Given the description of an element on the screen output the (x, y) to click on. 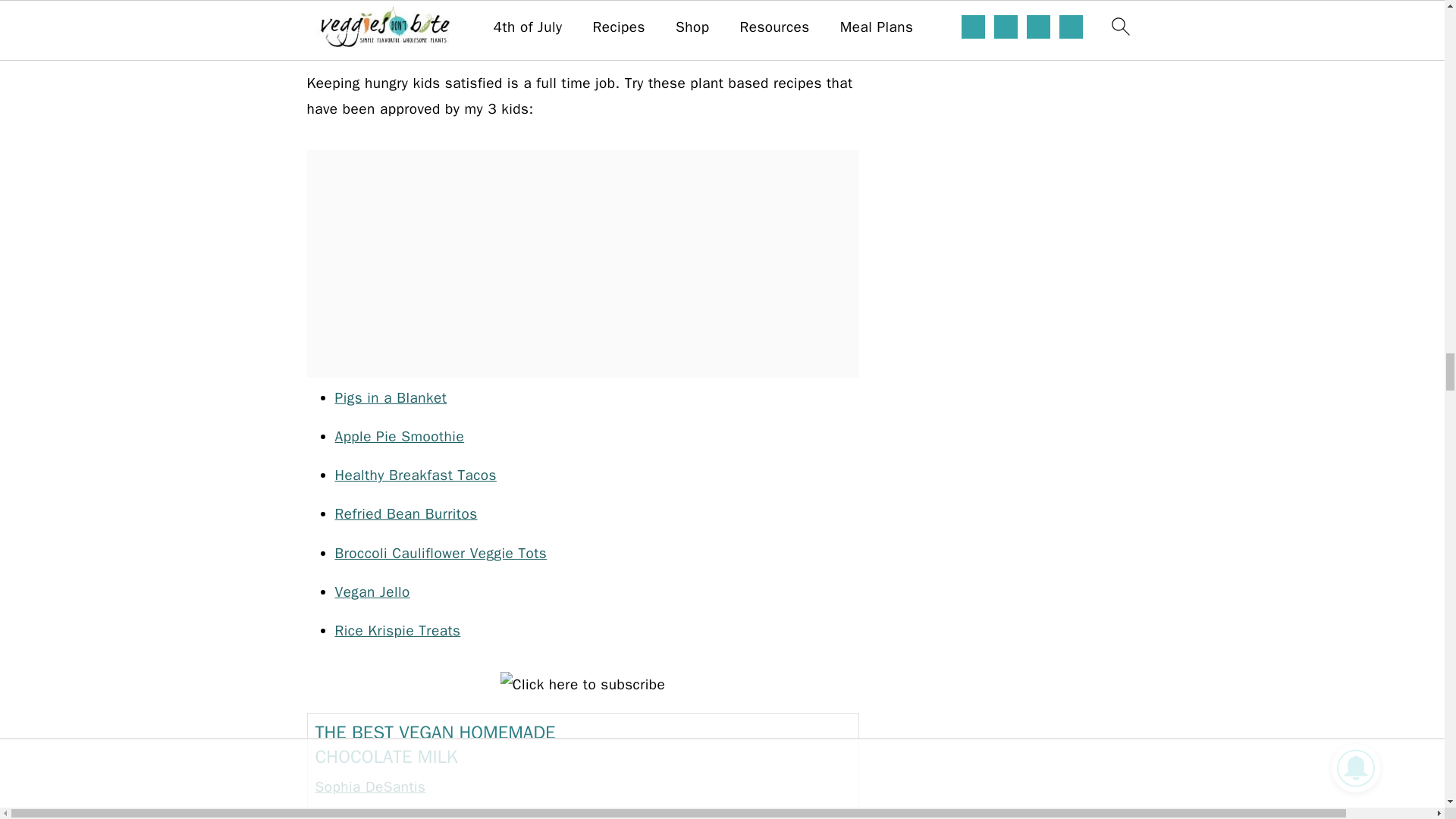
Pigs in a Blanket (390, 398)
